Given the description of an element on the screen output the (x, y) to click on. 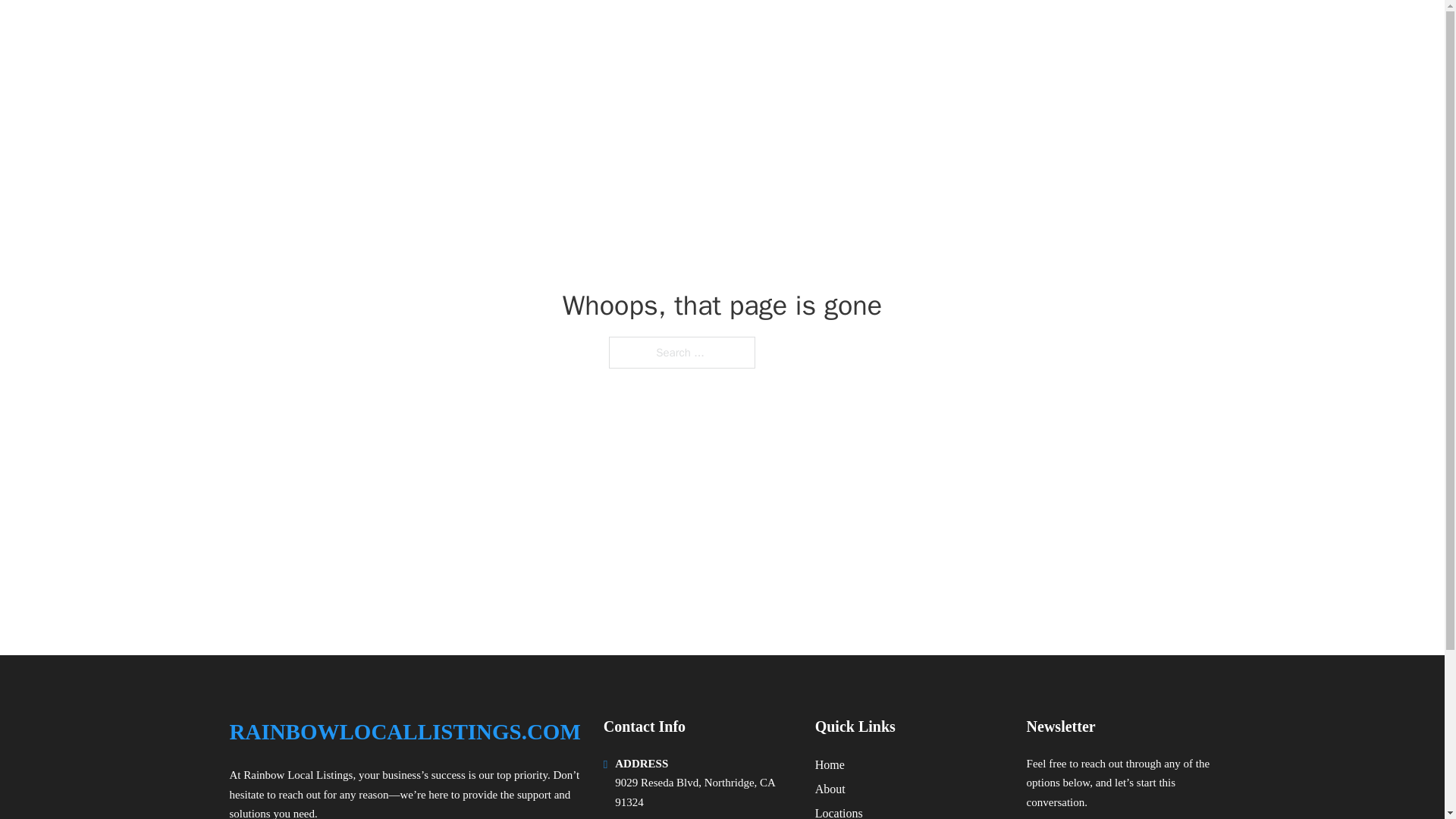
RAINBOWLOCALLISTINGS.COM (421, 31)
LOCATIONS (1098, 31)
HOME (1025, 31)
Locations (839, 811)
Home (829, 764)
About (830, 788)
RAINBOWLOCALLISTINGS.COM (403, 732)
